Given the description of an element on the screen output the (x, y) to click on. 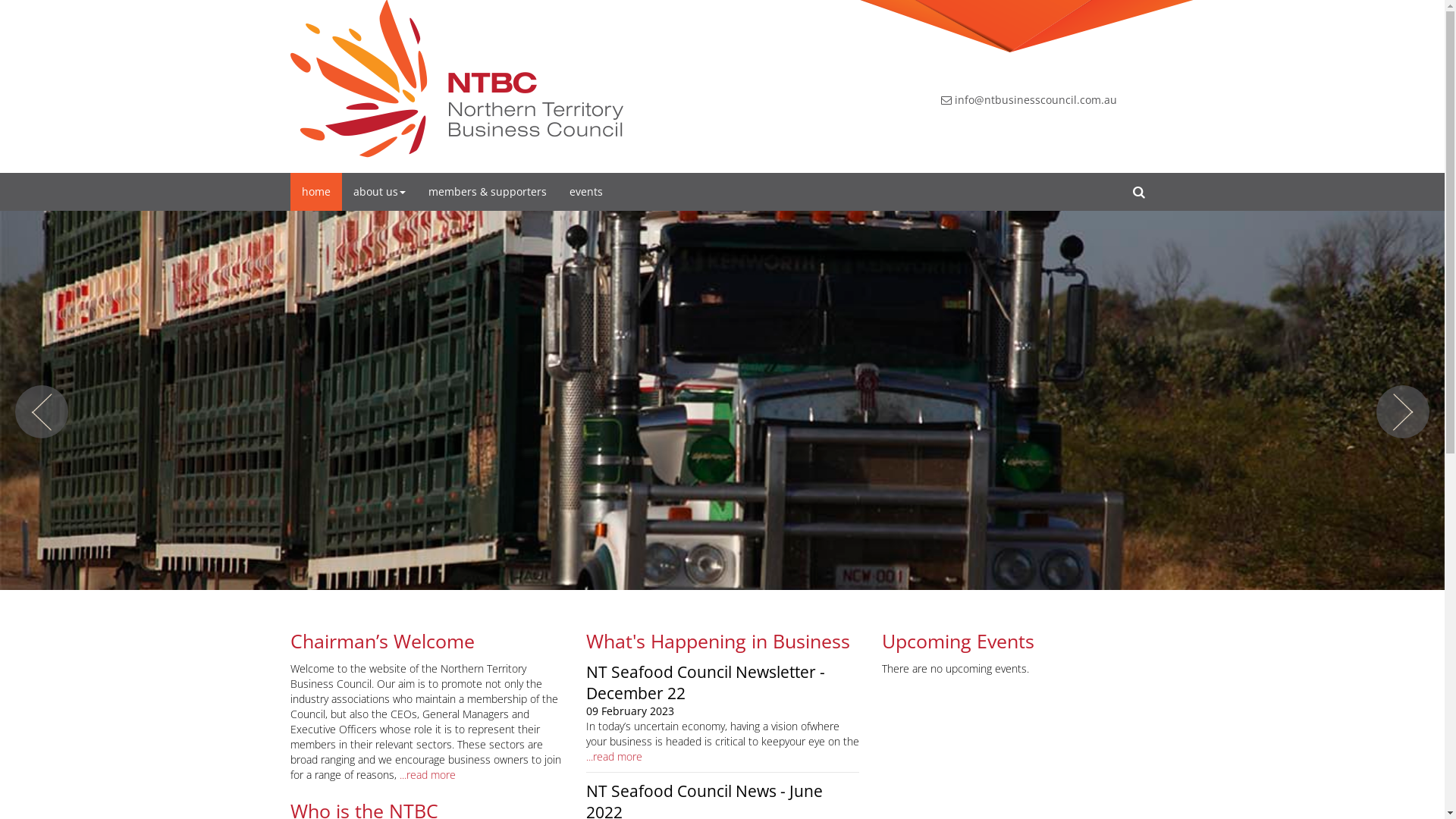
events Element type: text (586, 191)
...read more Element type: text (426, 774)
...read more Element type: text (613, 756)
members & supporters Element type: text (487, 191)
NT Seafood Council Newsletter - December 22 Element type: text (704, 682)
home Element type: text (315, 191)
info@ntbusinesscouncil.com.au Element type: text (1027, 100)
Northern Territory Business Council Element type: hover (455, 78)
about us Element type: text (378, 191)
